Given the description of an element on the screen output the (x, y) to click on. 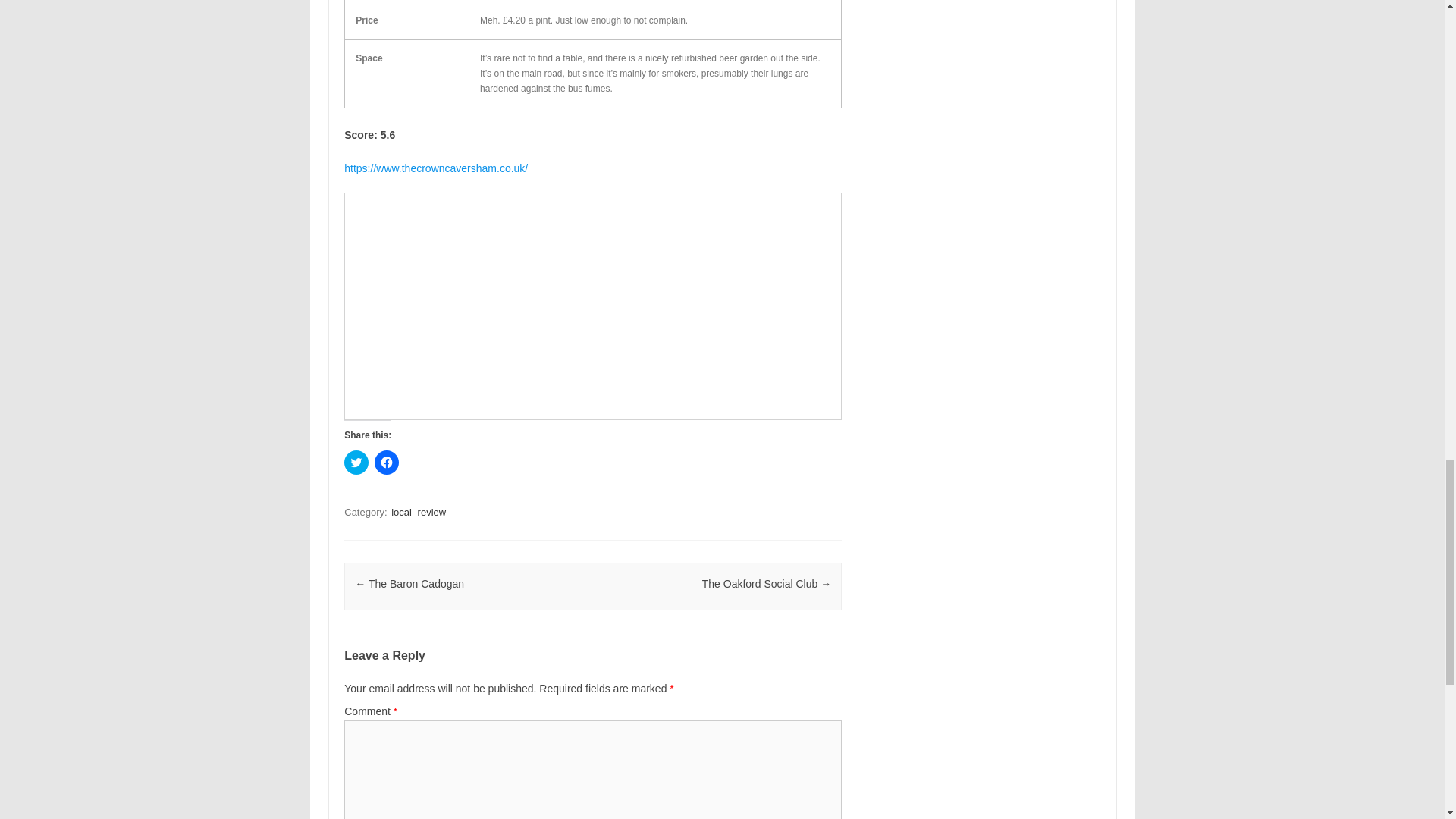
Click to share on Twitter (355, 462)
local (401, 512)
review (432, 512)
Click to share on Facebook (386, 462)
